Given the description of an element on the screen output the (x, y) to click on. 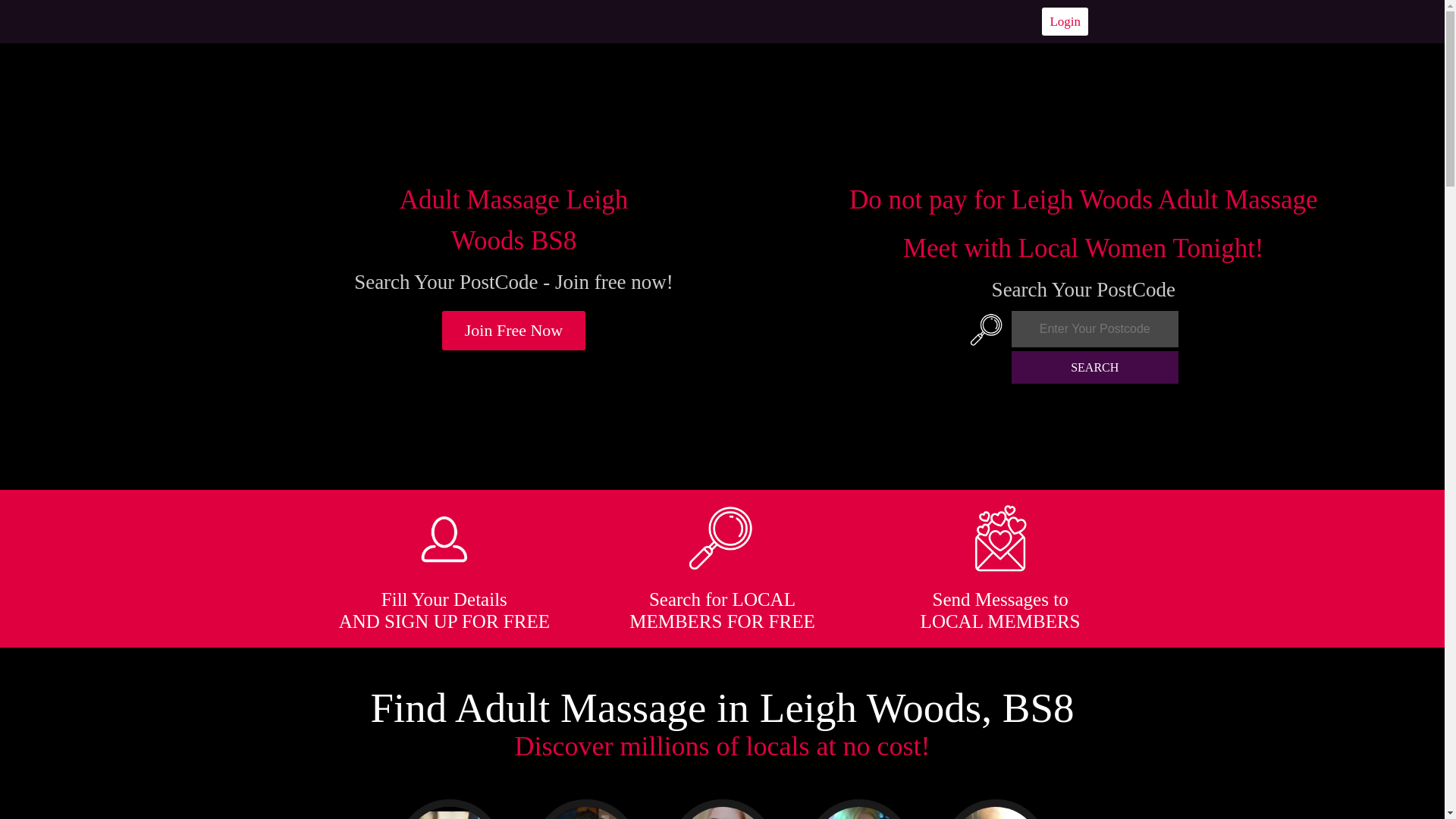
Login (1064, 21)
Join Free Now (514, 330)
Join (514, 330)
SEARCH (1094, 367)
Login (1064, 21)
